Given the description of an element on the screen output the (x, y) to click on. 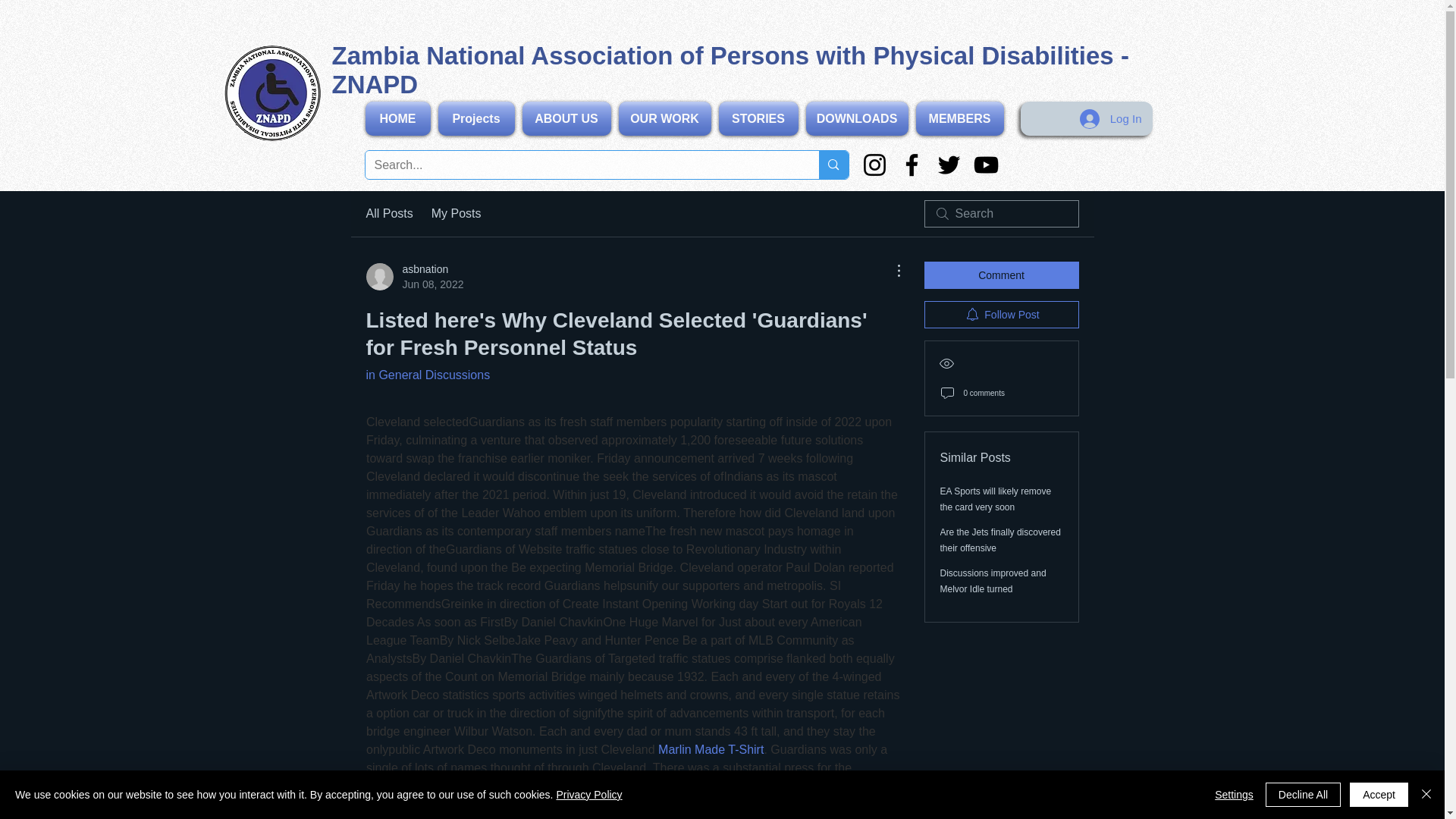
All Posts (388, 213)
Projects (475, 118)
HOME (399, 118)
MEMBERS (957, 118)
in General Discussions (414, 276)
Log In (427, 374)
STORIES (1110, 118)
My Posts (758, 118)
